Given the description of an element on the screen output the (x, y) to click on. 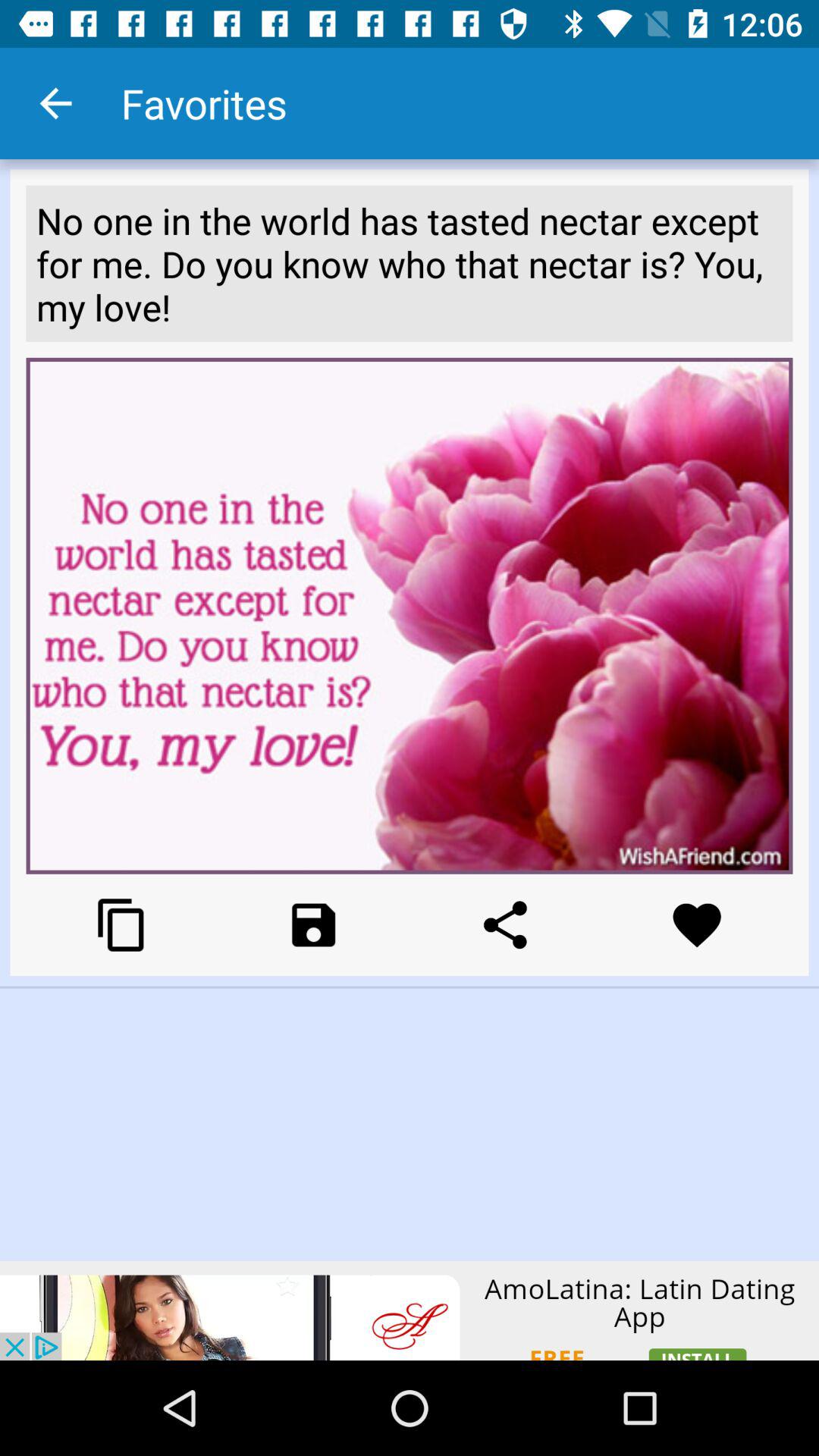
save the image (313, 925)
